Given the description of an element on the screen output the (x, y) to click on. 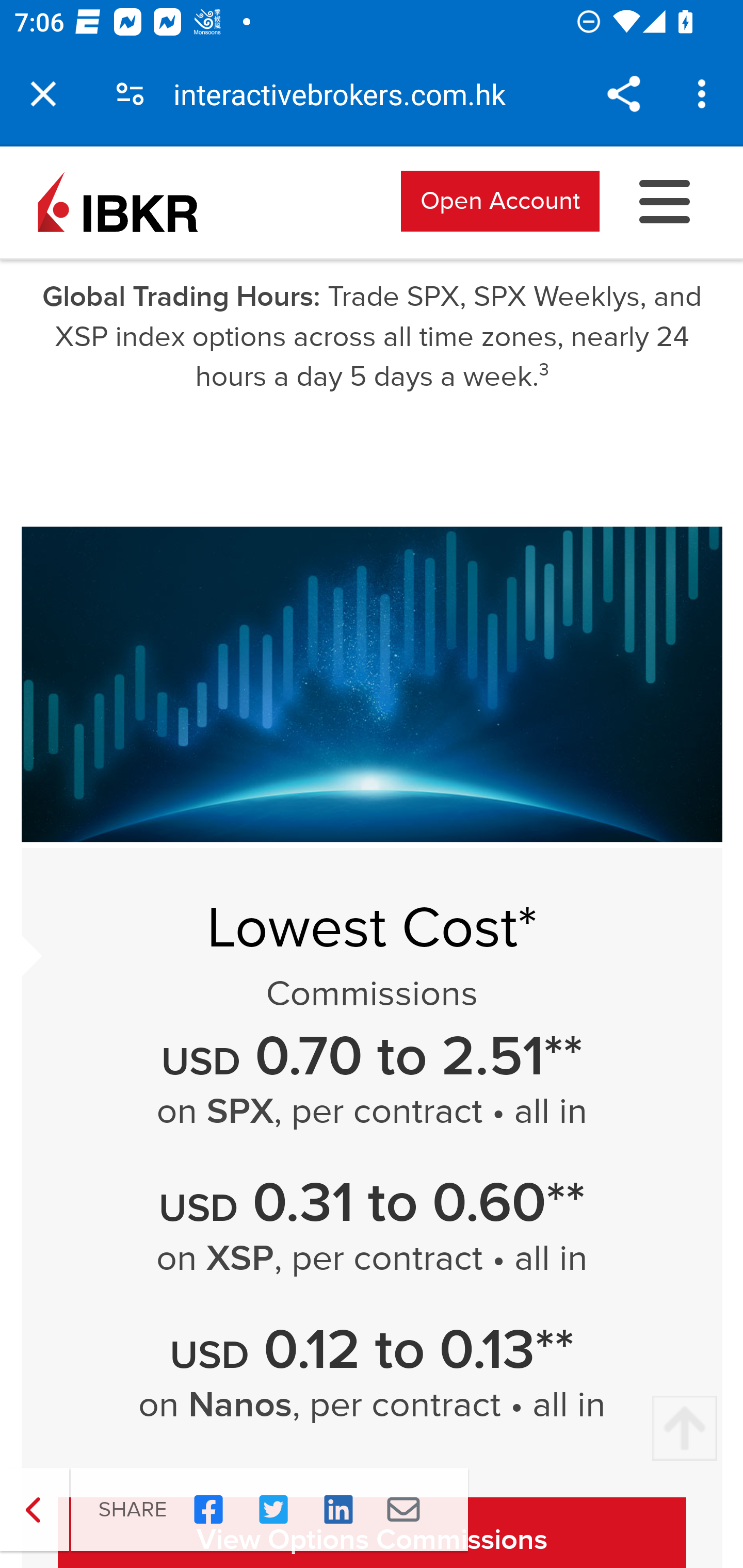
Close tab (43, 93)
Share (623, 93)
Customize and control Google Chrome (705, 93)
Connection is secure (129, 93)
interactivebrokers.com.hk (346, 93)
Interactive Brokers Home (117, 200)
Open Account (500, 200)
Toggle Navigation (665, 200)
To Top (684, 1428)
Share on Facebook  (208, 1509)
Share on Twitter  (272, 1509)
Share on Linkedin  (338, 1509)
Share by Email  (403, 1509)
